Given the description of an element on the screen output the (x, y) to click on. 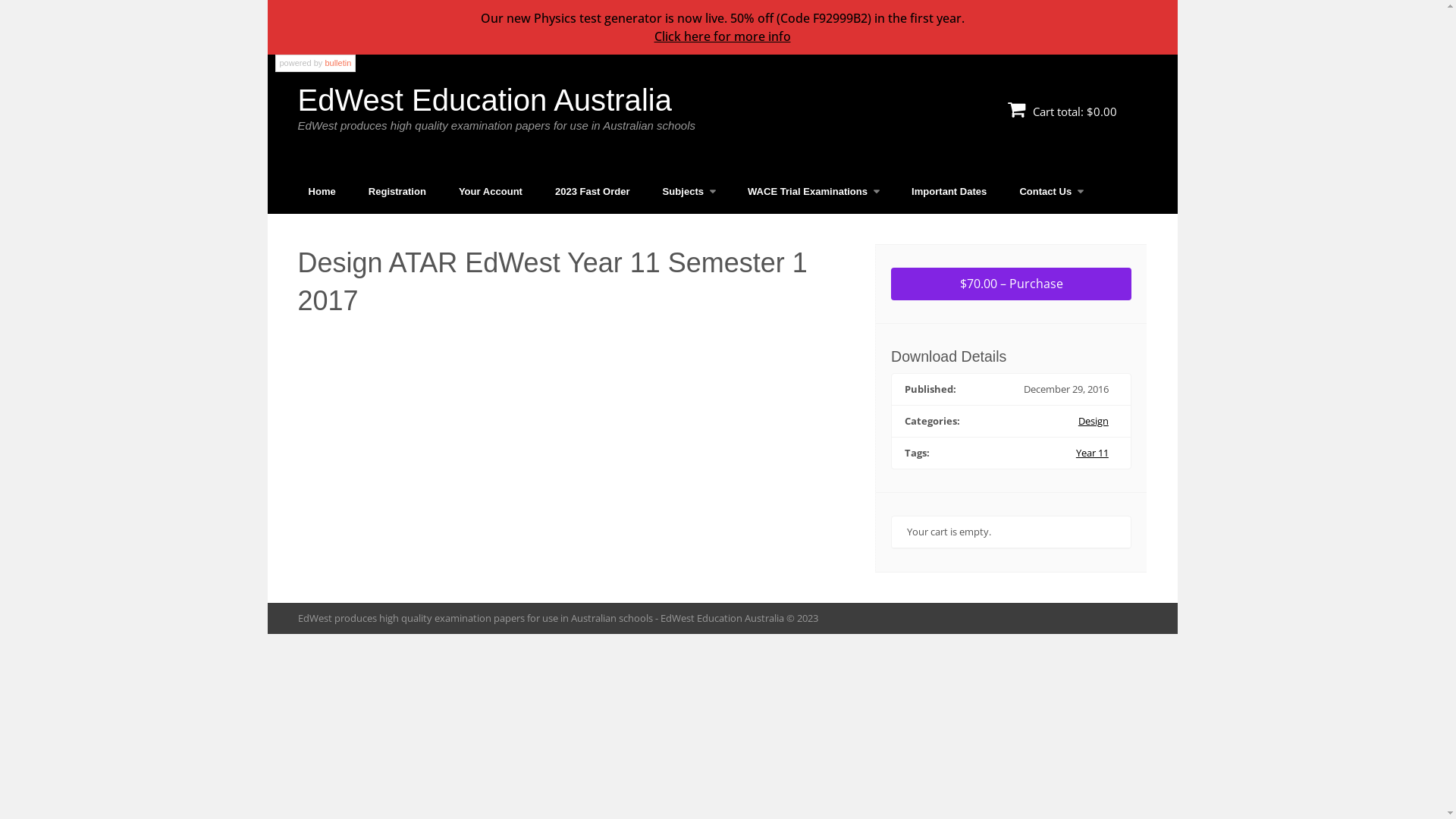
Your Account Element type: text (490, 191)
Important Dates Element type: text (948, 191)
Year 11 Element type: text (1092, 452)
bulletin Element type: text (337, 62)
Cart total: $0.00 Element type: text (1061, 109)
Click here for more info Element type: text (721, 36)
Contact Us Element type: text (1050, 191)
EdWest Education Australia Element type: text (484, 99)
2023 Fast Order Element type: text (592, 191)
WACE Trial Examinations Element type: text (813, 191)
Design Element type: text (1093, 420)
Home Element type: text (321, 191)
Subjects Element type: text (688, 191)
Registration Element type: text (396, 191)
